Given the description of an element on the screen output the (x, y) to click on. 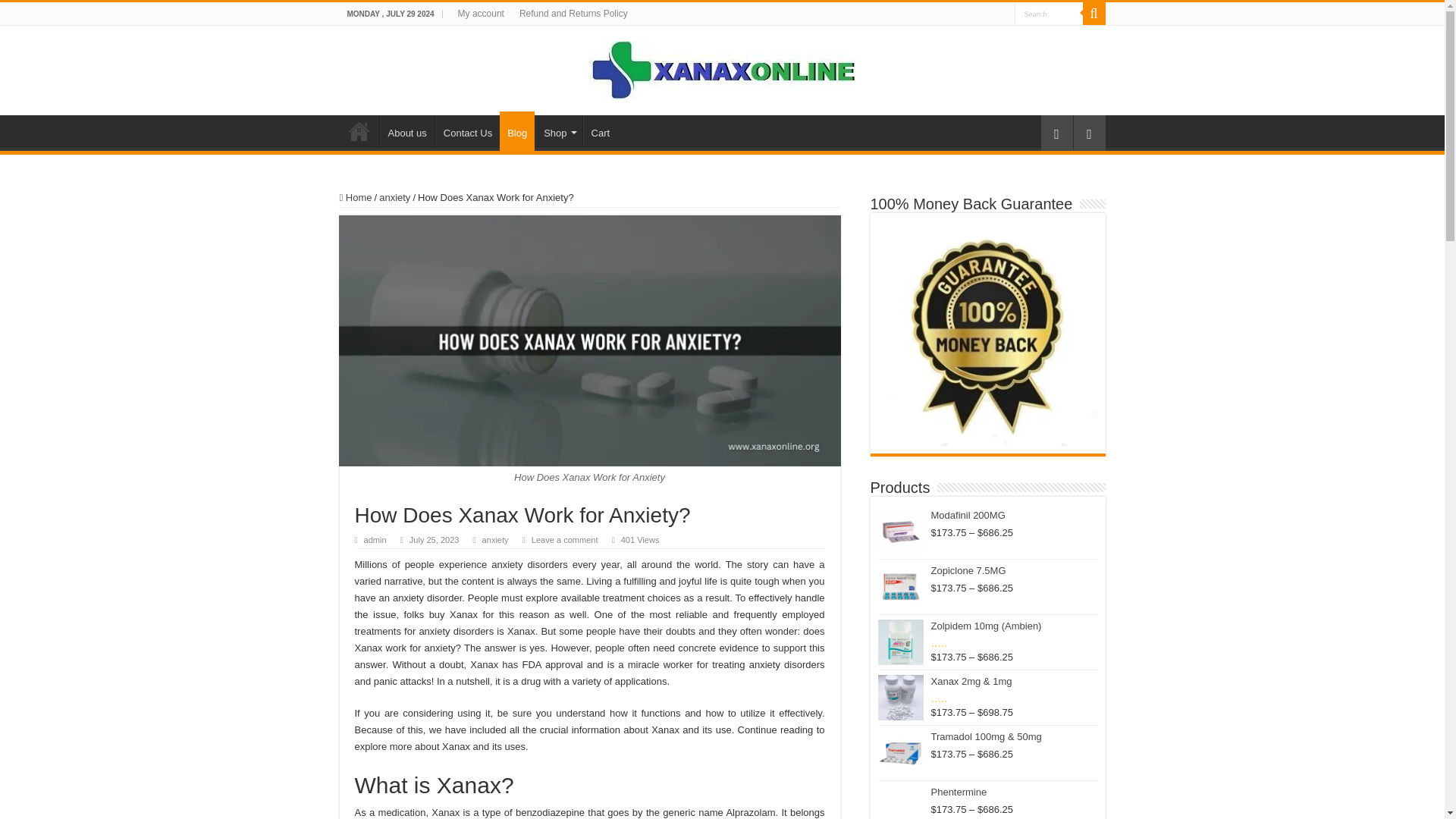
Refund and Returns Policy (573, 13)
Shop (557, 131)
Search (1094, 13)
Xanaxonline (722, 67)
Search (1048, 13)
Cart (600, 131)
Contact Us (467, 131)
Search (1048, 13)
Home (355, 197)
Search (1048, 13)
My account (480, 13)
Home (358, 131)
About us (405, 131)
anxiety (394, 197)
